Given the description of an element on the screen output the (x, y) to click on. 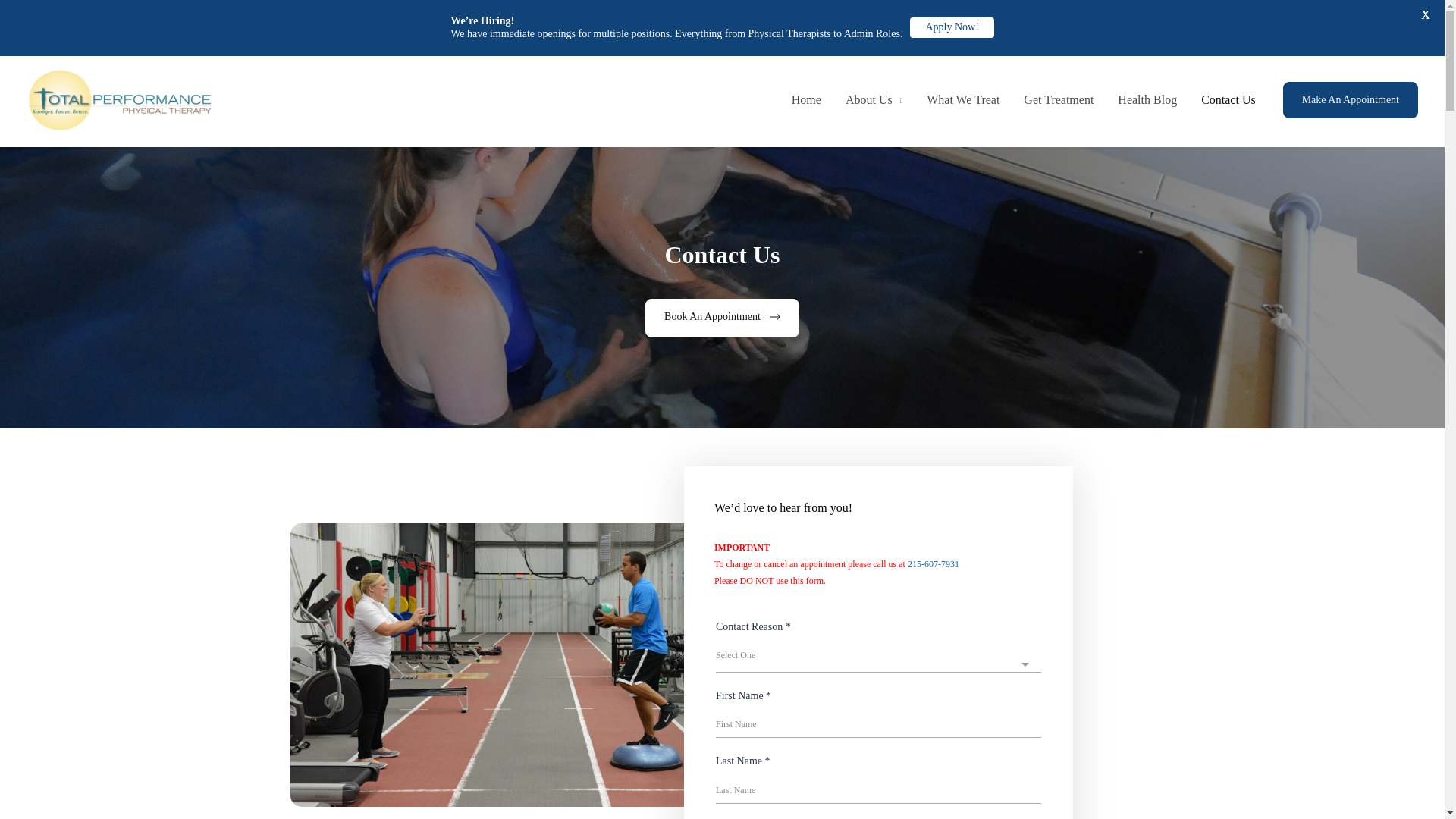
Health Blog (1147, 99)
Contact Us (1228, 99)
215-607-7931 (933, 563)
About Us (873, 99)
Home (805, 99)
What We Treat (962, 99)
Make An Appointment (1350, 99)
Z - Total Performance Website Form - Contact Us (878, 705)
Get Treatment (1058, 99)
Book An Appointment (722, 317)
